Given the description of an element on the screen output the (x, y) to click on. 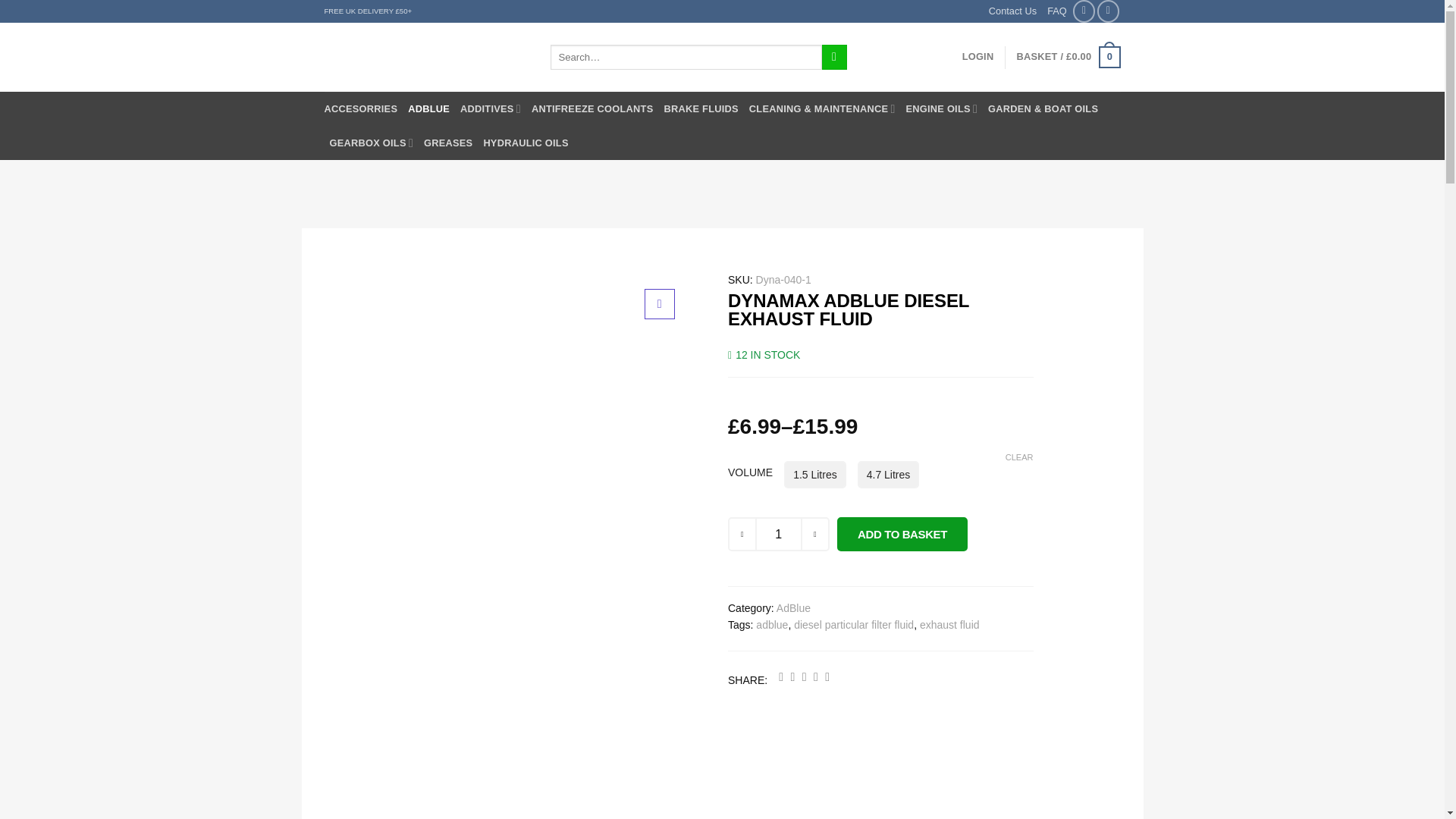
Basket (1067, 57)
ENGINE OILS (940, 108)
Product Thumbnail (660, 304)
1 (778, 533)
ACCESORRIES (360, 108)
Follow on Instagram (1108, 11)
GEARBOX OILS (371, 142)
LOGIN (978, 56)
Search (834, 57)
ADBLUE (428, 108)
